Given the description of an element on the screen output the (x, y) to click on. 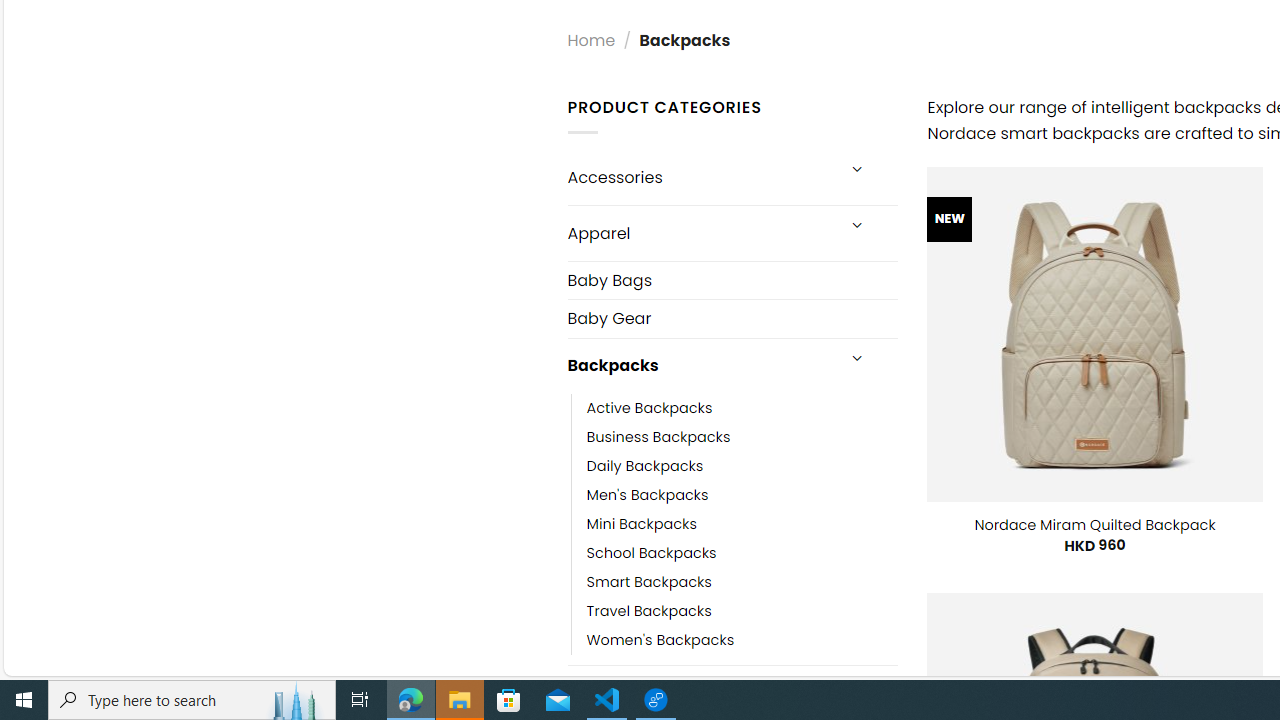
Smart Backpacks (648, 581)
Active Backpacks (649, 408)
